Given the description of an element on the screen output the (x, y) to click on. 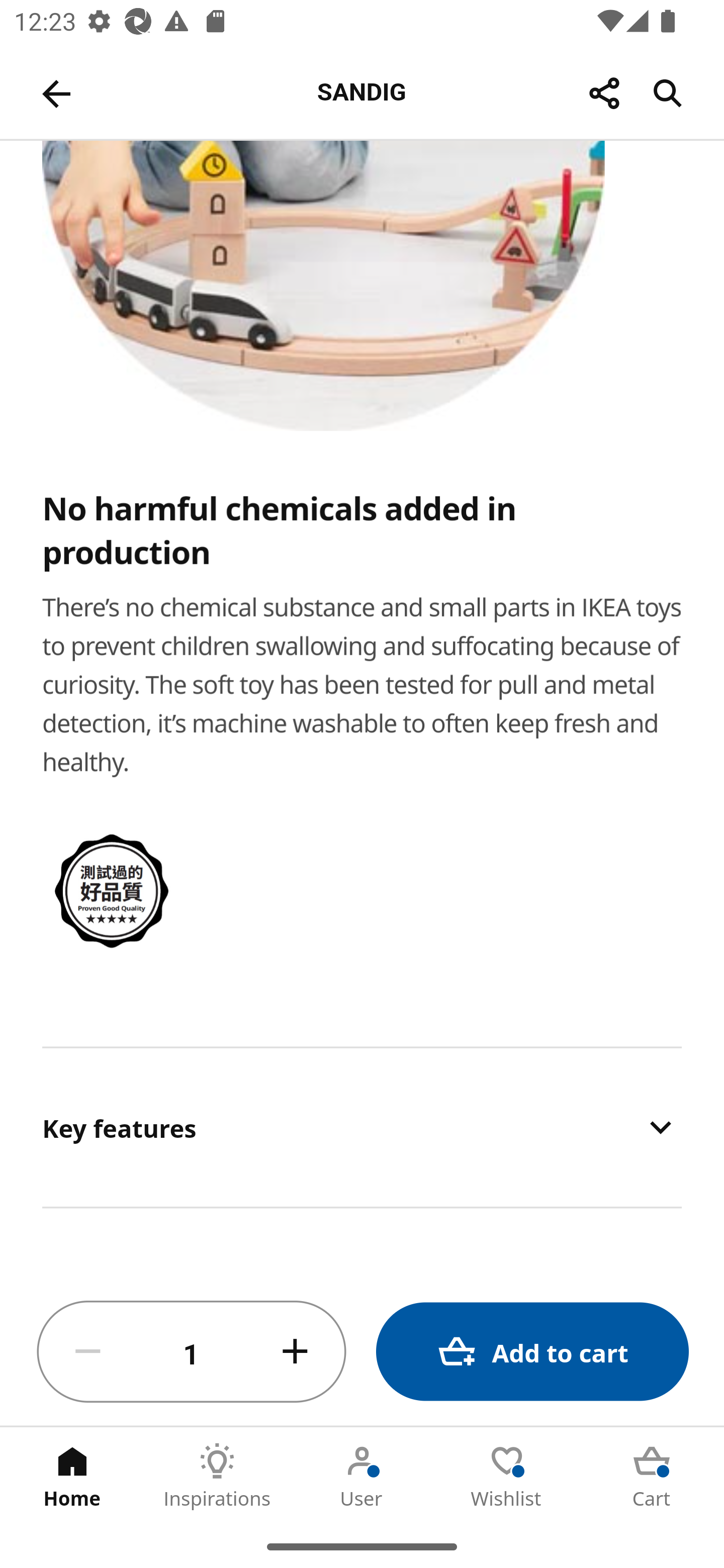
Key features (361, 1127)
Add to cart (531, 1352)
1 (191, 1352)
Home
Tab 1 of 5 (72, 1476)
Inspirations
Tab 2 of 5 (216, 1476)
User
Tab 3 of 5 (361, 1476)
Wishlist
Tab 4 of 5 (506, 1476)
Cart
Tab 5 of 5 (651, 1476)
